Given the description of an element on the screen output the (x, y) to click on. 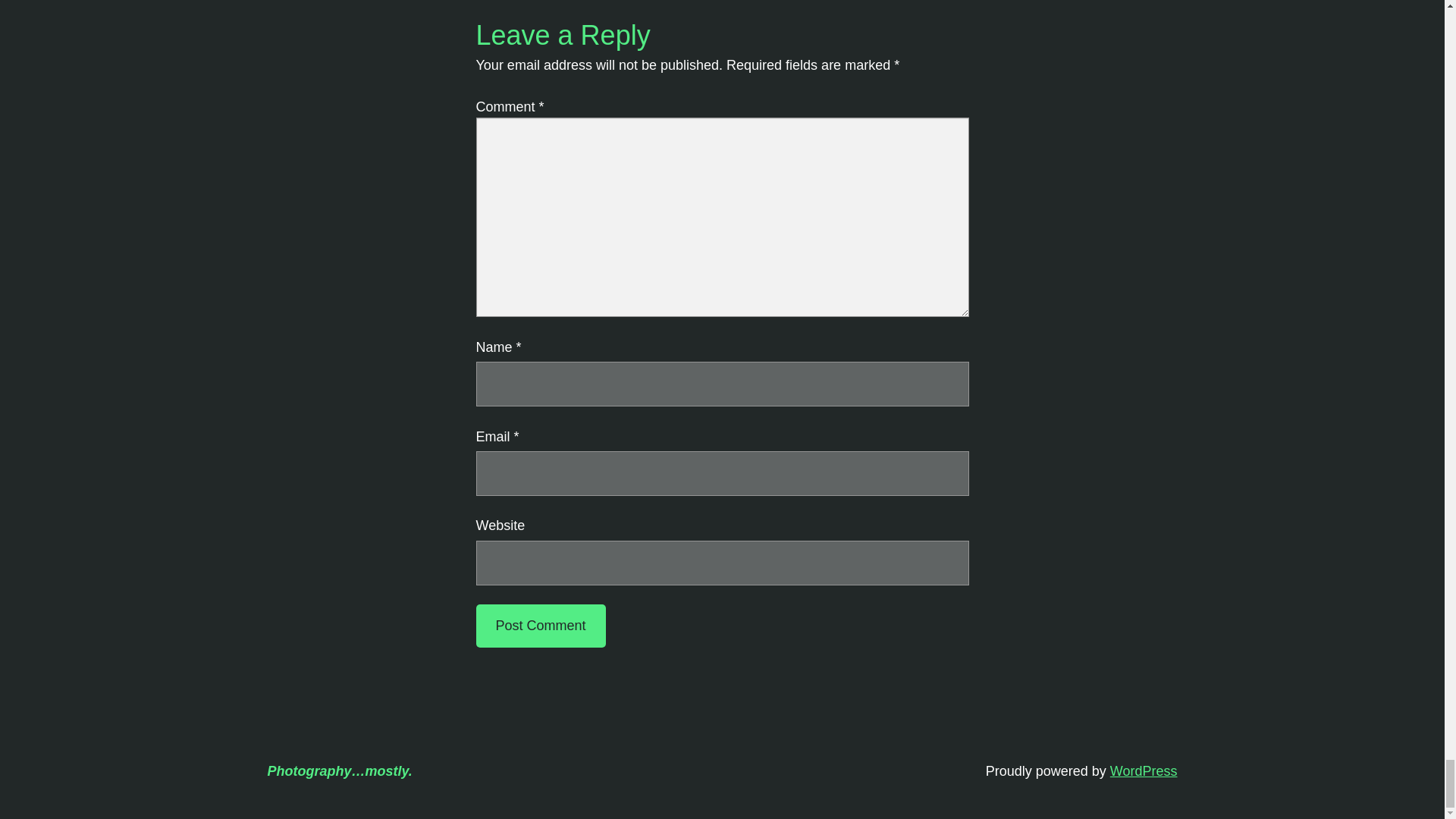
WordPress (1143, 770)
Post Comment (540, 625)
Post Comment (540, 625)
